Given the description of an element on the screen output the (x, y) to click on. 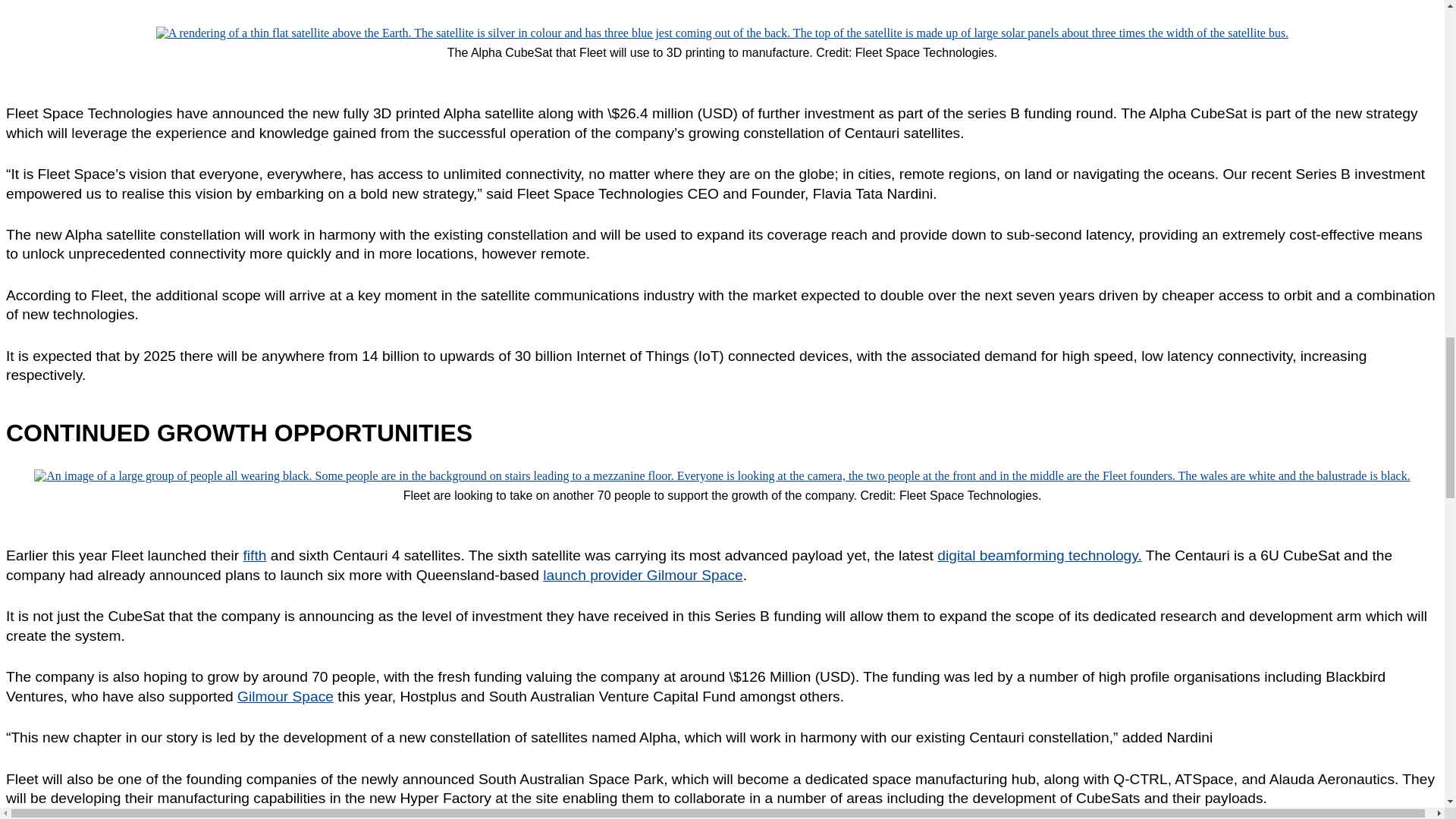
digital beamforming technology. (1039, 555)
fifth (254, 555)
launch provider Gilmour Space (642, 575)
Gilmour Space (285, 696)
